Given the description of an element on the screen output the (x, y) to click on. 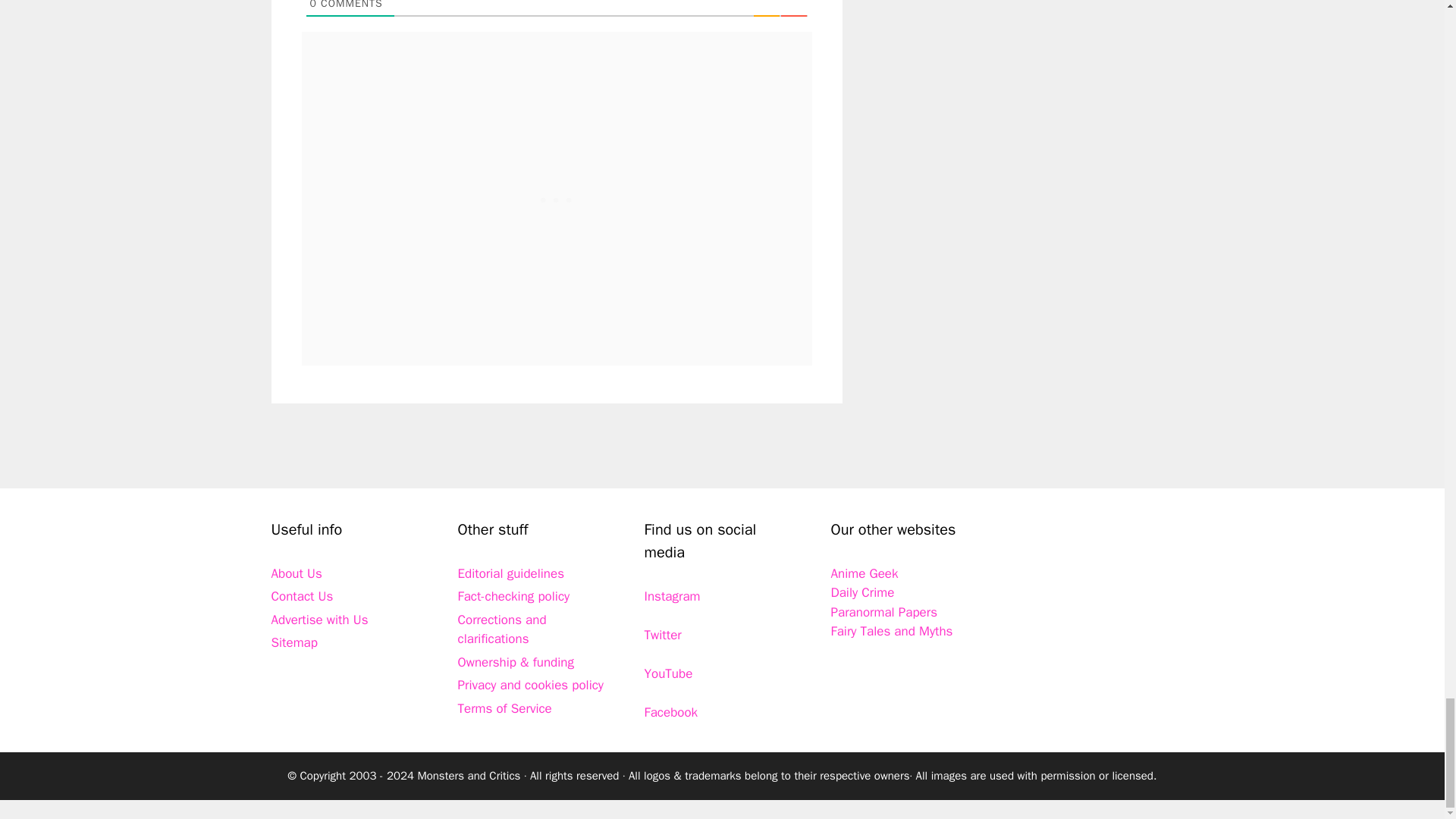
Privacy and cookies policy (531, 684)
Contact Us (301, 596)
Terms of Service (504, 708)
Advertise with Us (319, 619)
About Us (295, 573)
Corrections and clarifications (502, 629)
Twitter (663, 634)
Editorial guidelines (511, 573)
Instagram (672, 596)
Sitemap (293, 642)
Fact-checking policy (514, 596)
